Given the description of an element on the screen output the (x, y) to click on. 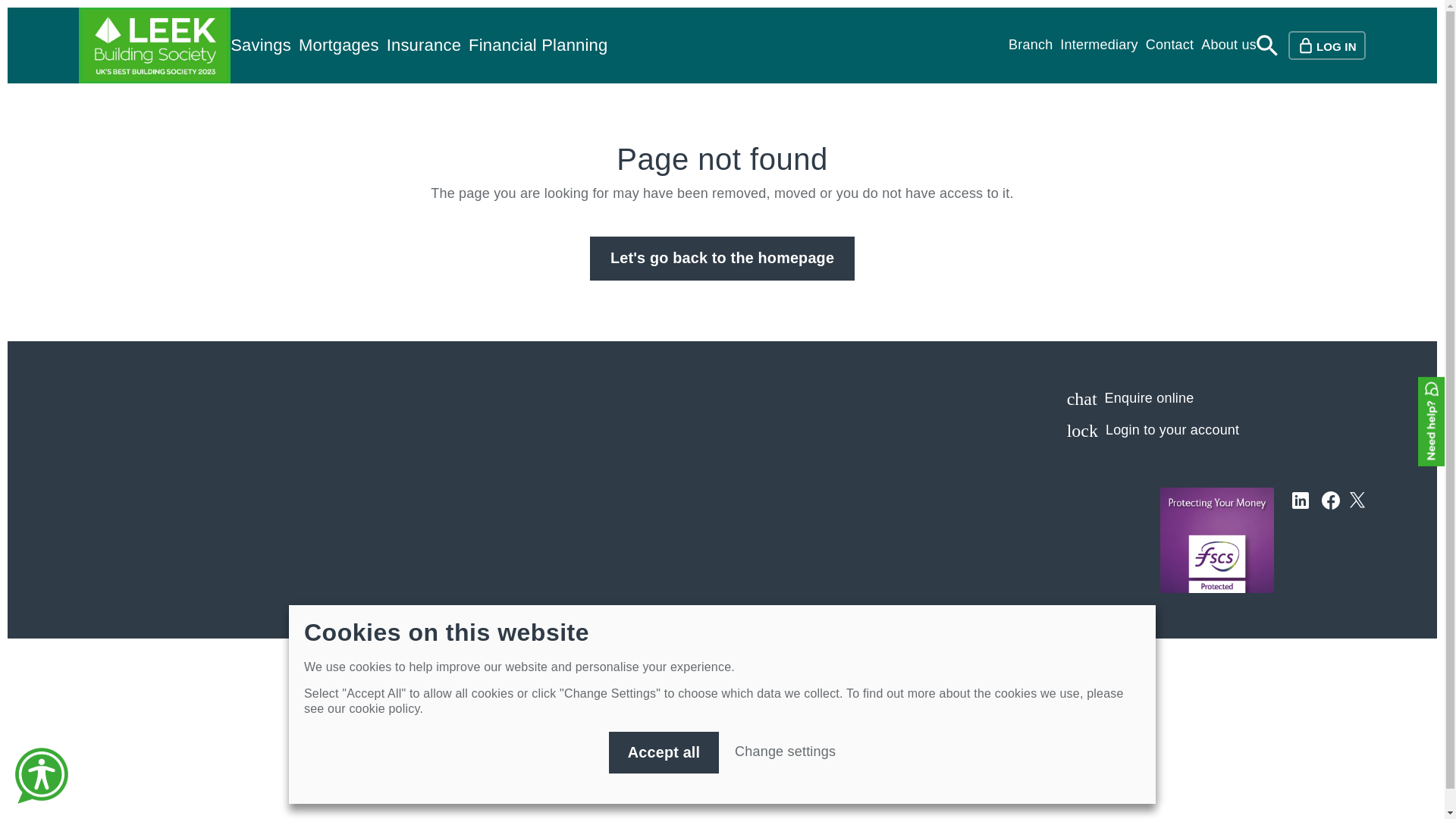
Mortgages (338, 45)
logo Created with Sketch. (1357, 499)
Insurance (424, 45)
